Given the description of an element on the screen output the (x, y) to click on. 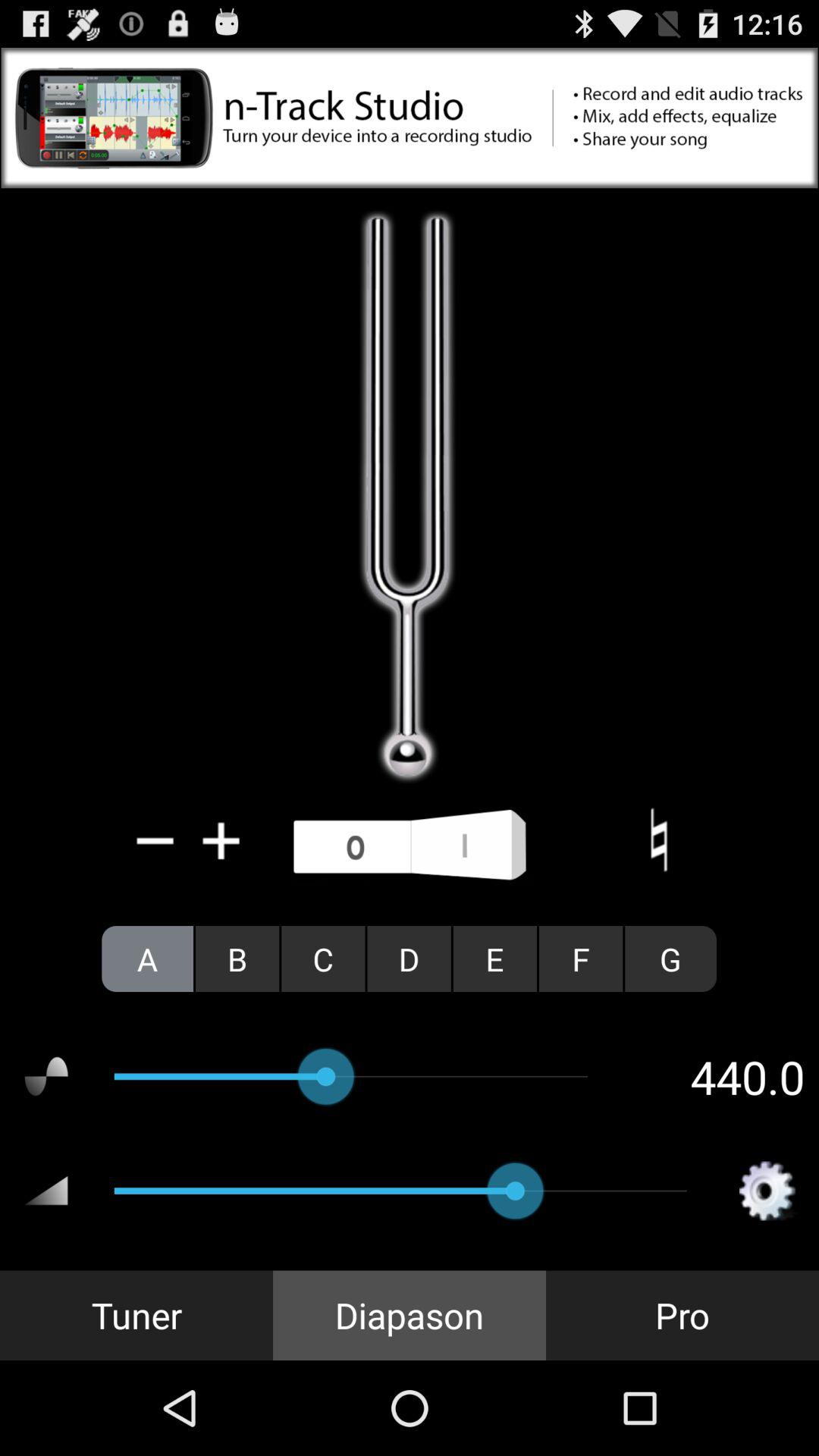
turn off the icon to the right of f radio button (670, 958)
